Given the description of an element on the screen output the (x, y) to click on. 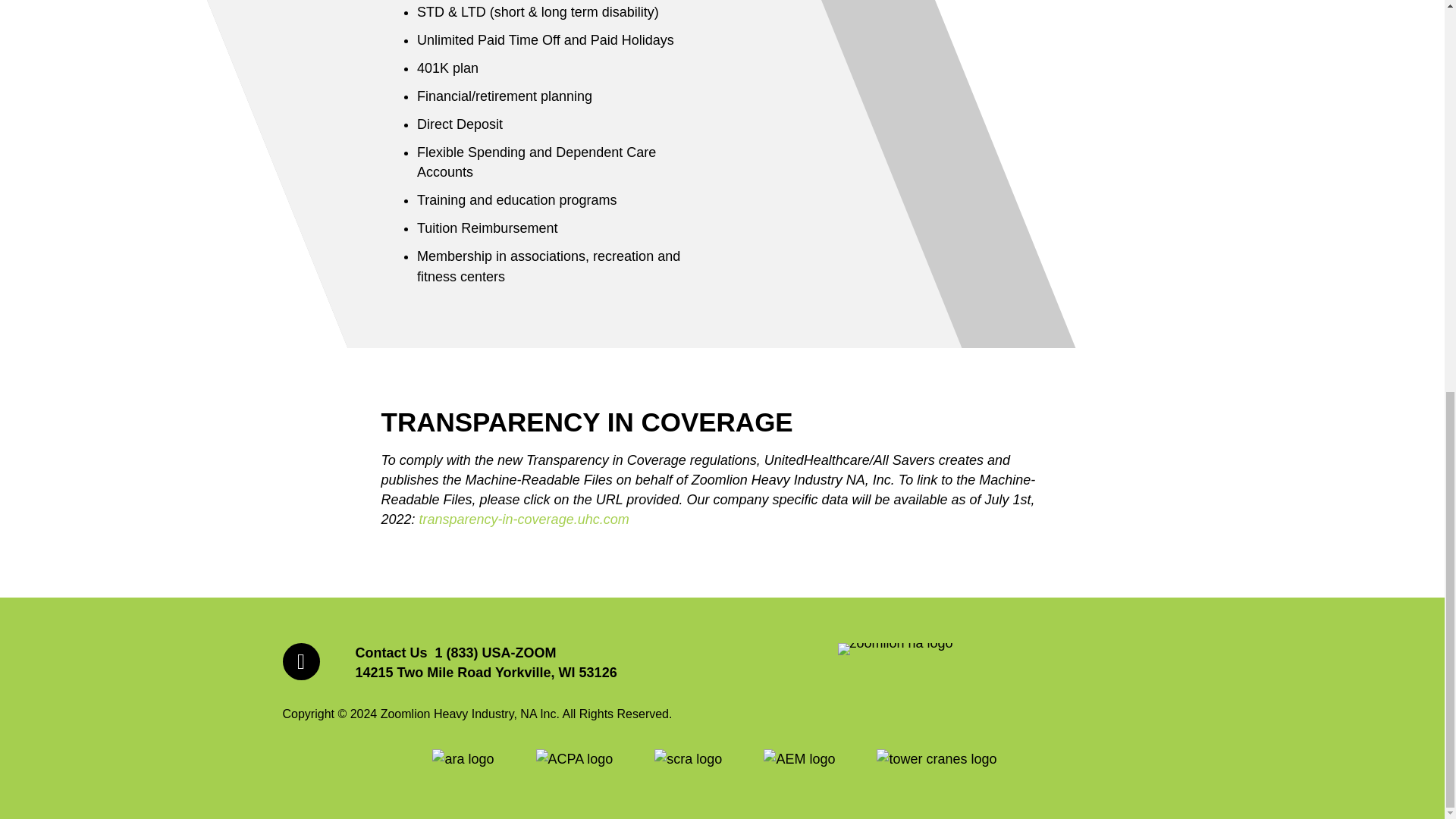
transparency-in-coverage.uhc.com (523, 519)
logo-zoomlion (894, 648)
Contact Us (390, 652)
